Given the description of an element on the screen output the (x, y) to click on. 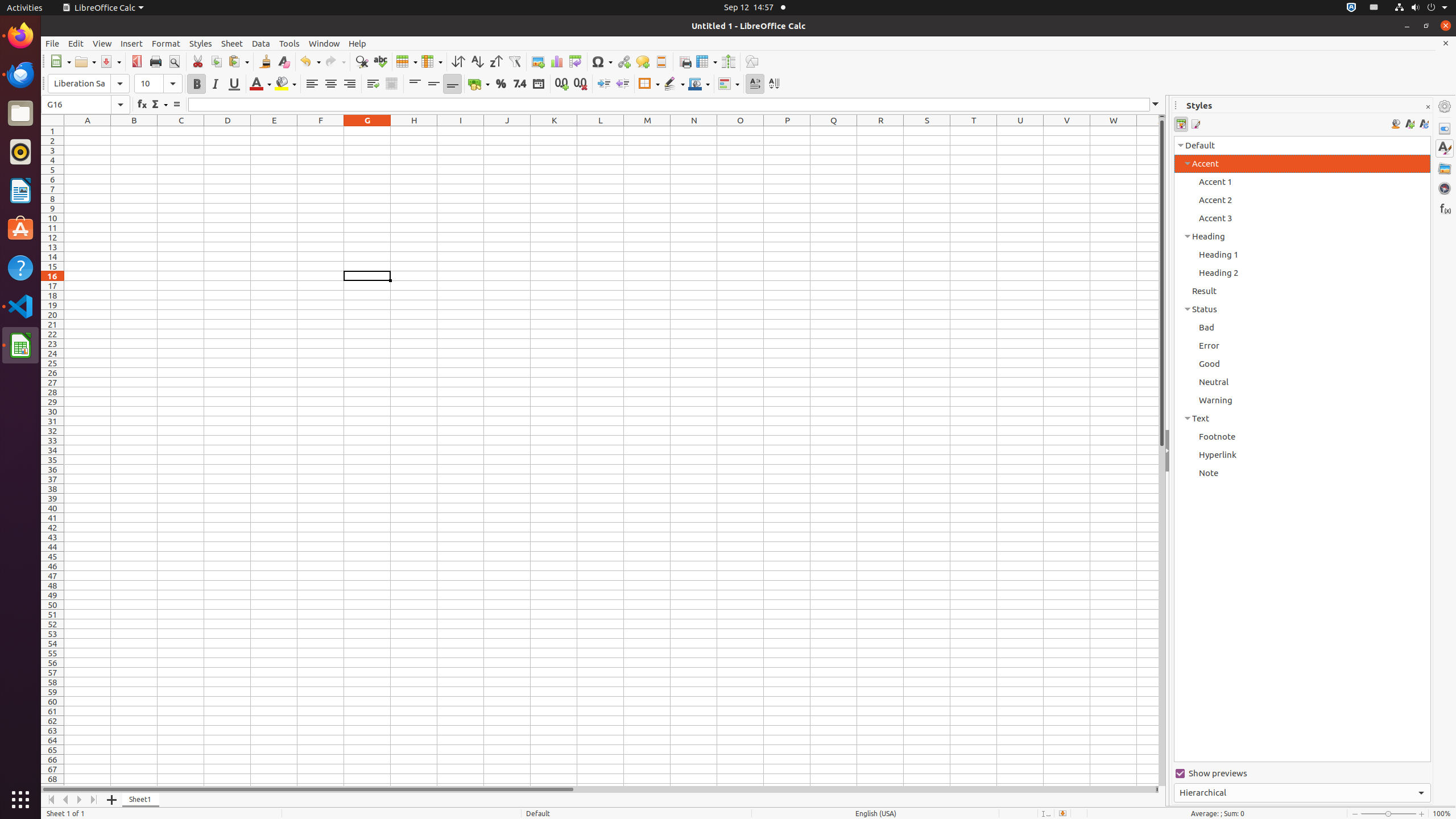
Draw Functions Element type: toggle-button (751, 61)
R1 Element type: table-cell (880, 130)
LibreOffice Calc Element type: push-button (20, 344)
Insert Element type: menu (131, 43)
Hyperlink Element type: toggle-button (623, 61)
